Given the description of an element on the screen output the (x, y) to click on. 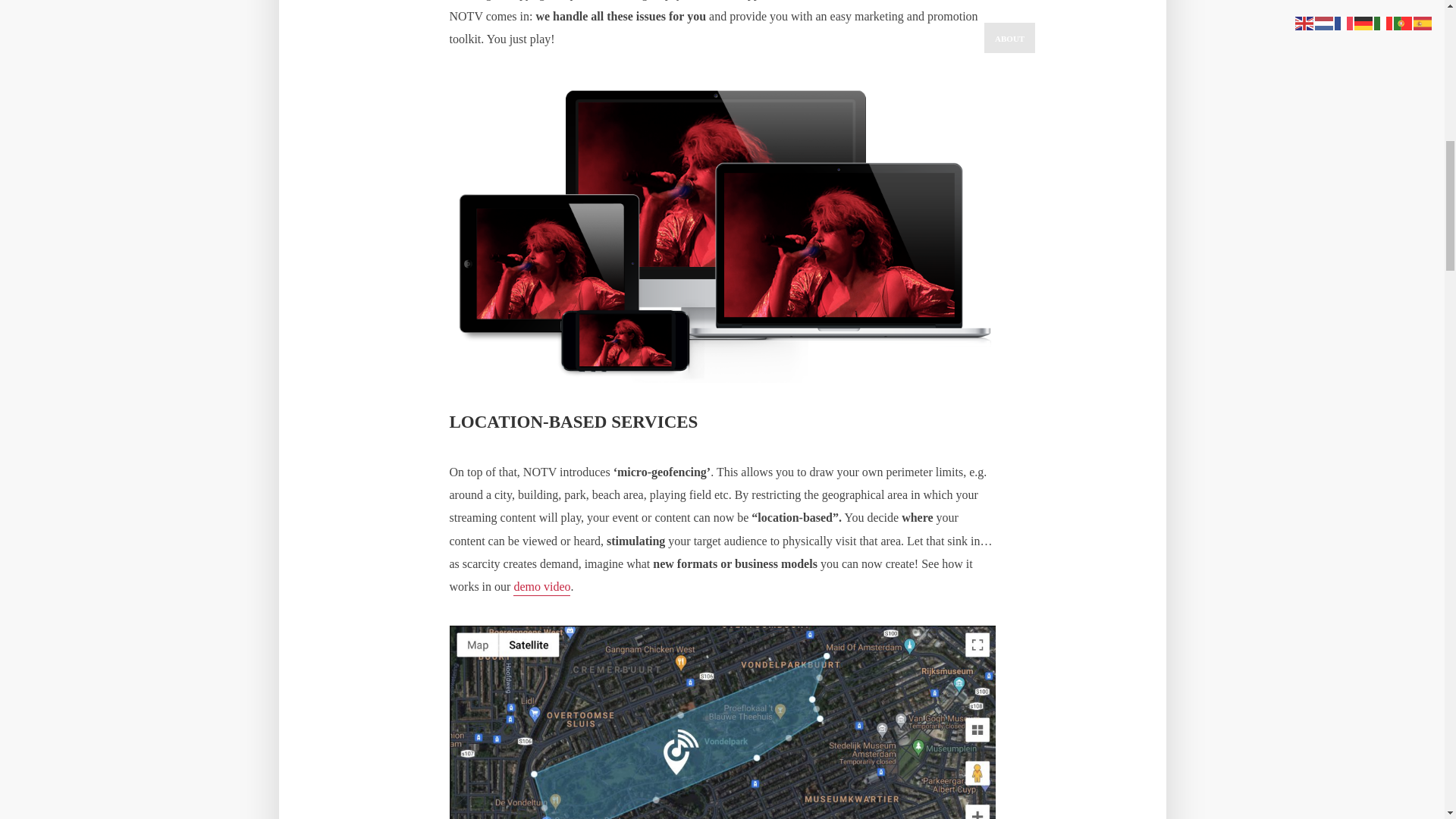
demo video (541, 587)
